Given the description of an element on the screen output the (x, y) to click on. 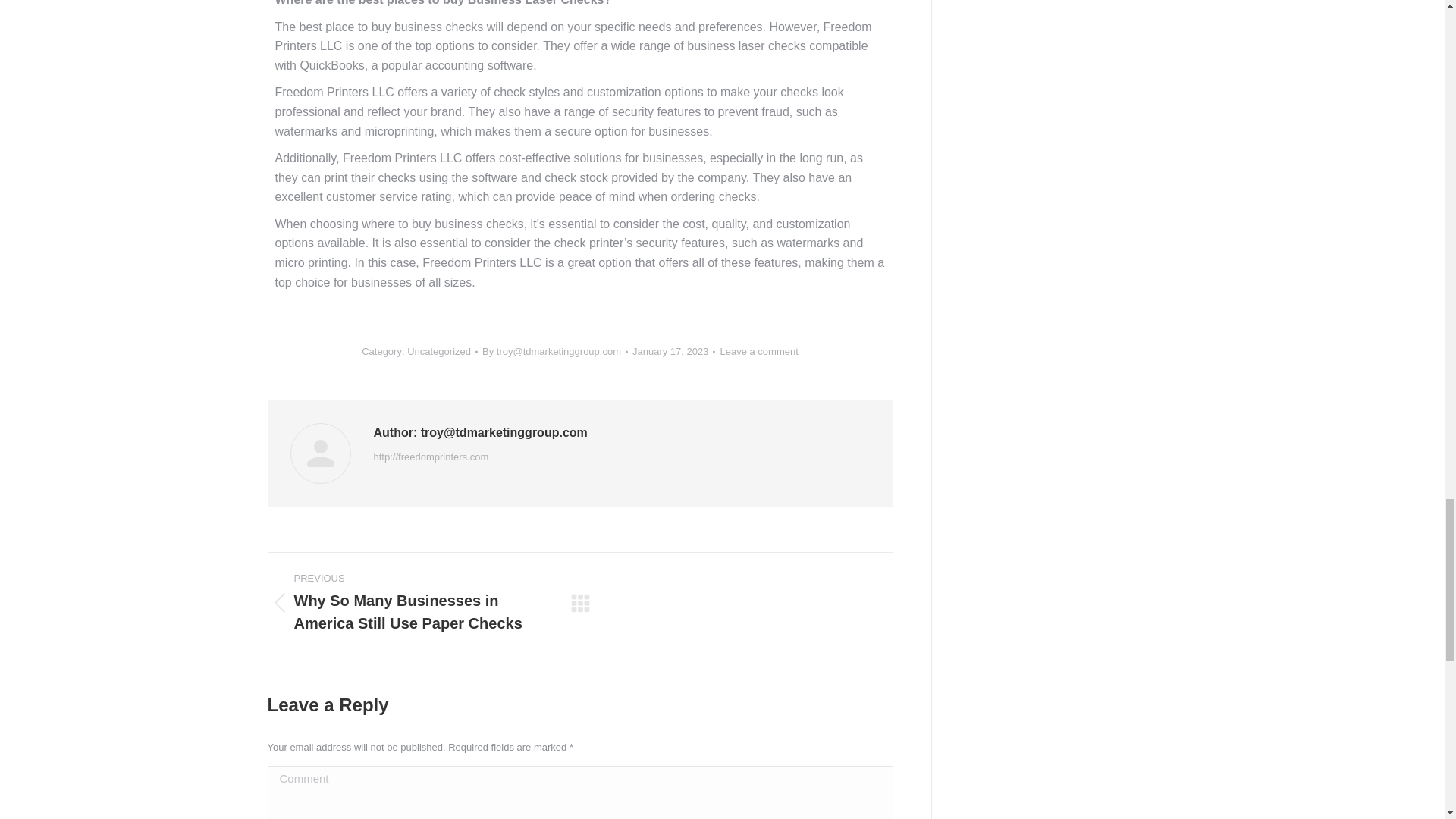
Uncategorized (438, 351)
Leave a comment (758, 351)
7:16 pm (672, 351)
January 17, 2023 (672, 351)
